Given the description of an element on the screen output the (x, y) to click on. 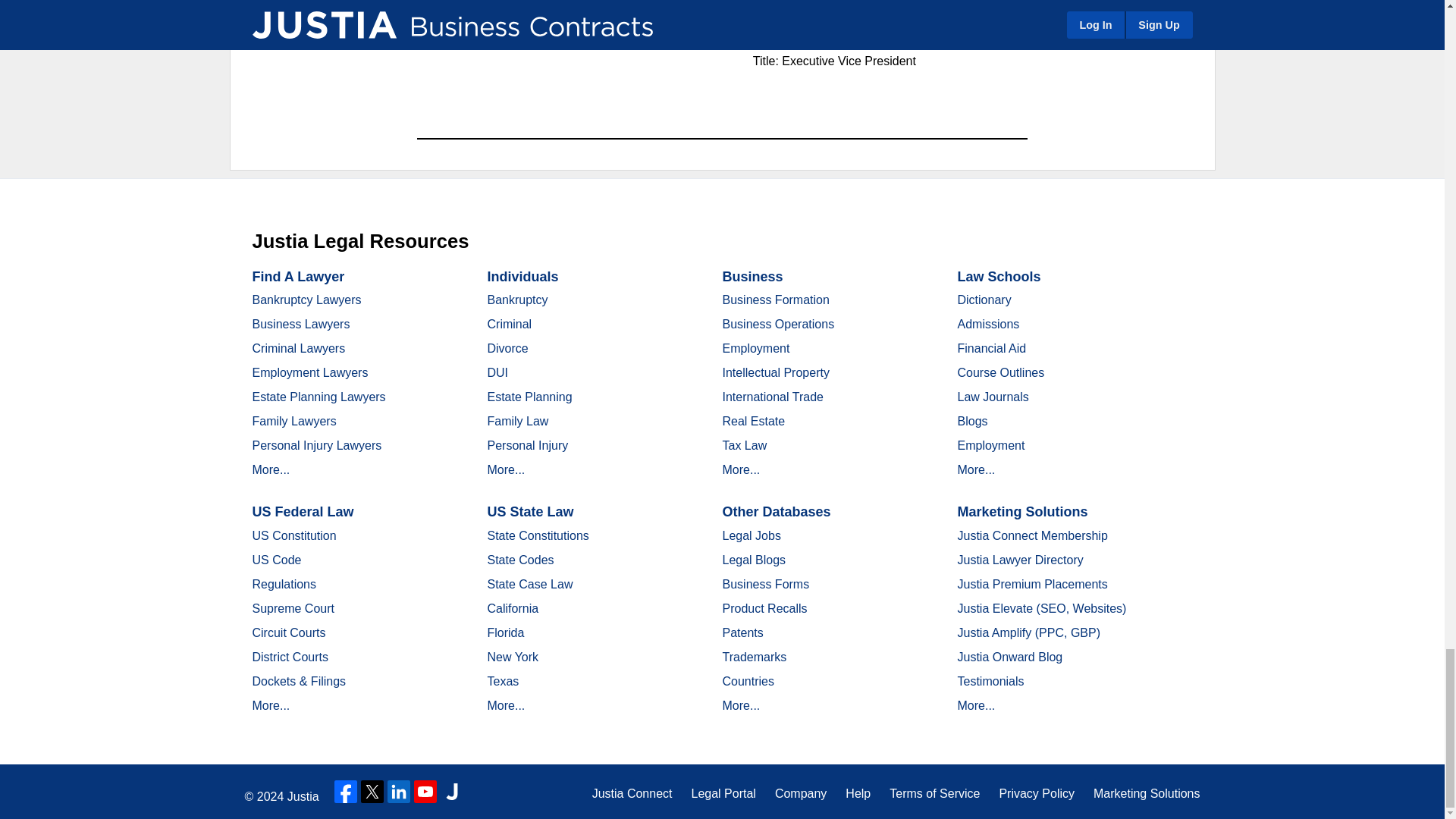
Employment Lawyers (309, 372)
More... (270, 469)
Justia Lawyer Directory (452, 791)
YouTube (424, 791)
Twitter (372, 791)
Find A Lawyer (297, 276)
Business Lawyers (300, 323)
Criminal Lawyers (298, 348)
Bankruptcy Lawyers (306, 299)
Personal Injury Lawyers (316, 445)
Facebook (345, 791)
LinkedIn (398, 791)
Estate Planning Lawyers (318, 396)
Family Lawyers (293, 420)
